Given the description of an element on the screen output the (x, y) to click on. 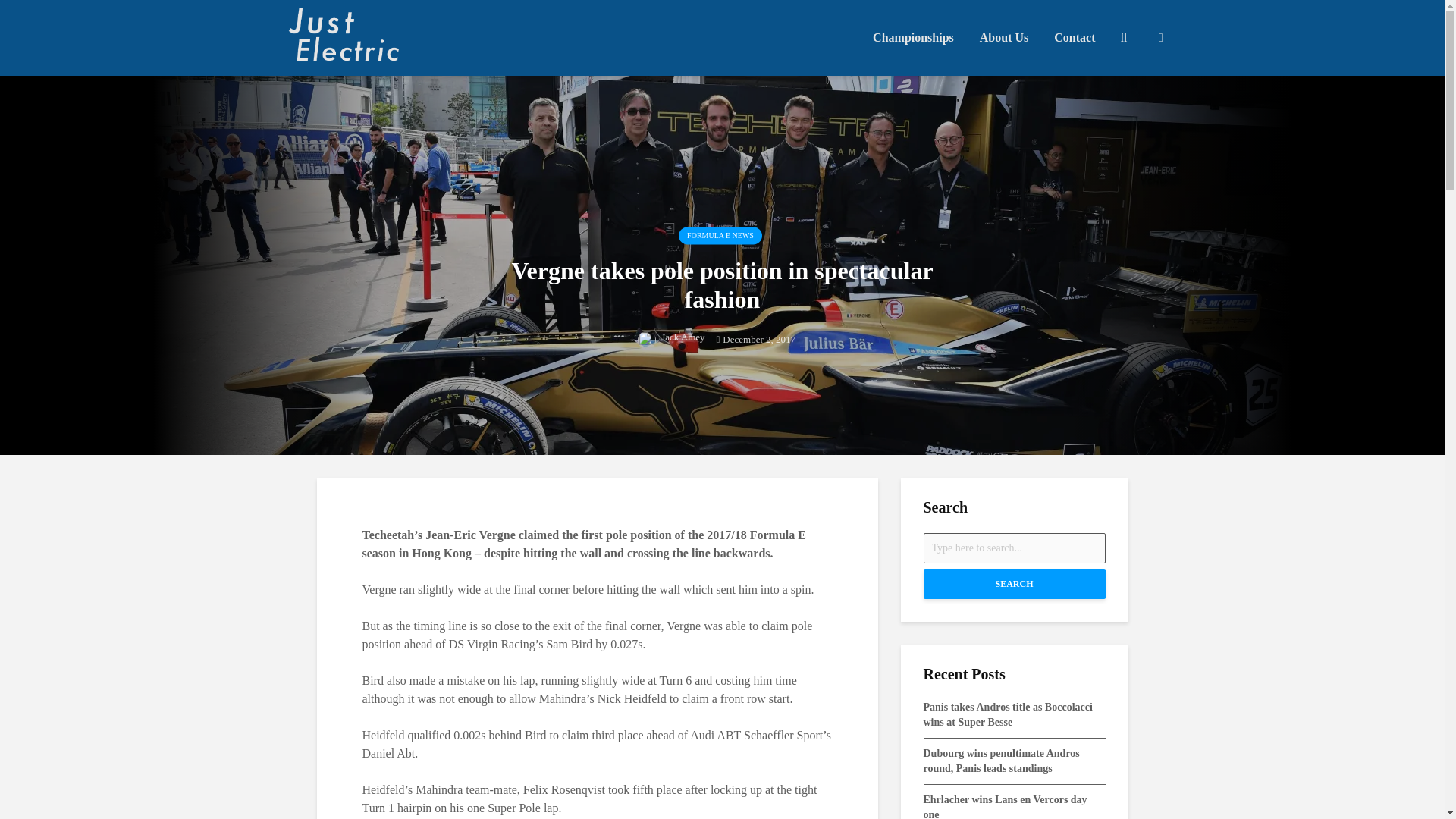
Jack Amey (670, 337)
Contact (1074, 37)
About Us (1003, 37)
Championships (913, 37)
FORMULA E NEWS (719, 235)
